Given the description of an element on the screen output the (x, y) to click on. 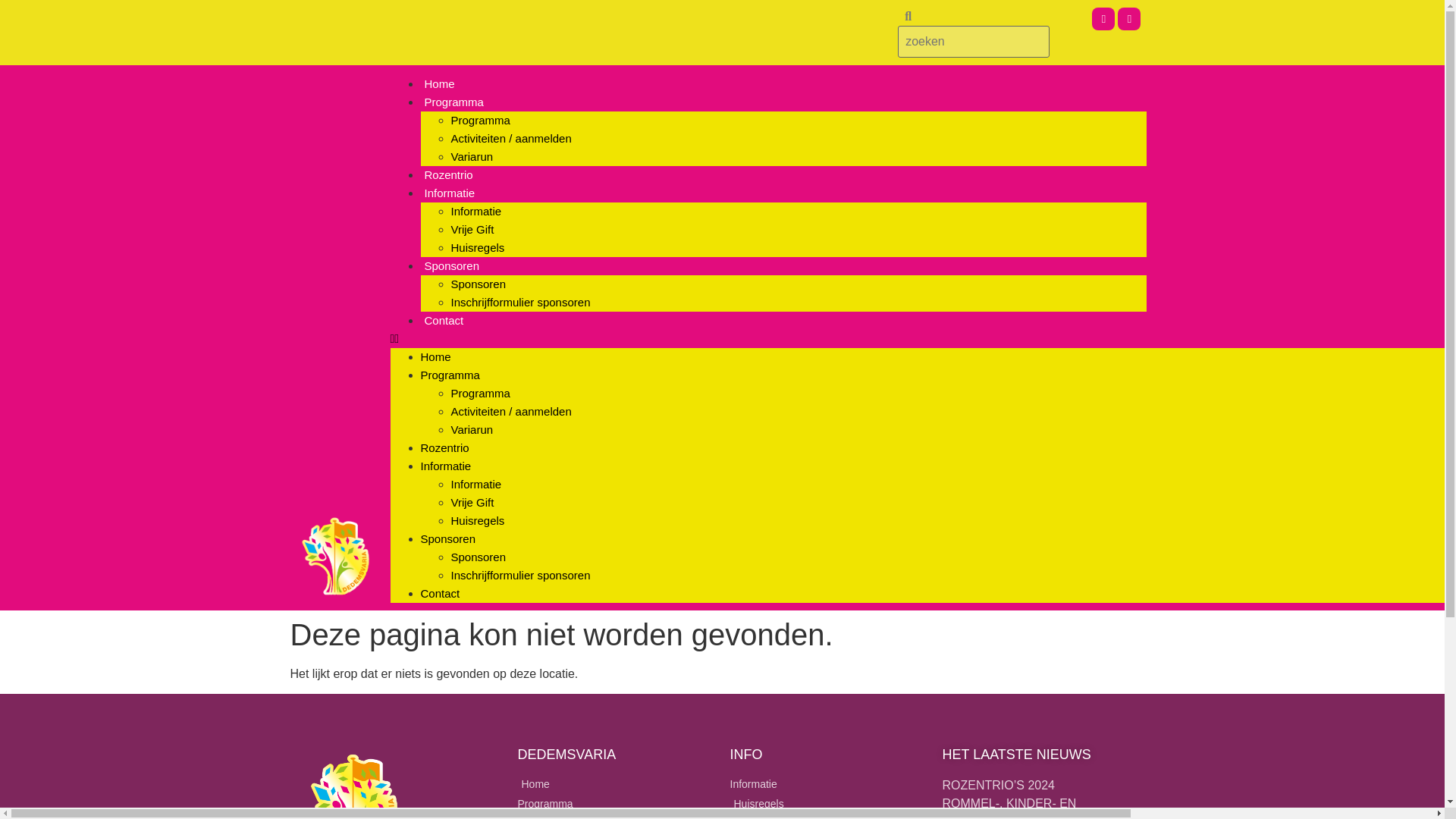
Informatie (449, 192)
Sponsoren (448, 538)
Informatie (474, 483)
Programma (479, 119)
Rozentrio (448, 174)
Programma (453, 101)
Variarun (471, 429)
Programma (479, 392)
Informatie (474, 210)
Contact (440, 593)
Home (439, 83)
Over ons (615, 817)
Huisregels (476, 246)
Sponsoren (477, 283)
Vrije Gift (471, 502)
